Given the description of an element on the screen output the (x, y) to click on. 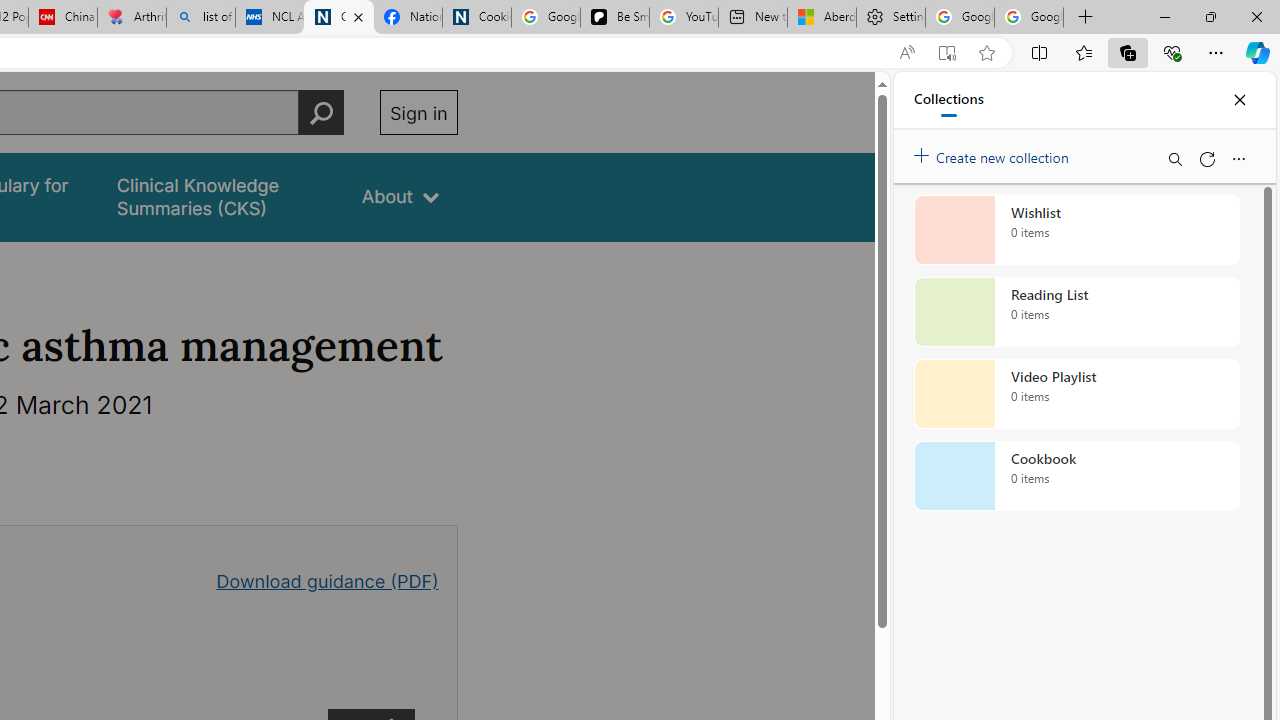
More options menu (1238, 158)
Be Smart | creating Science videos | Patreon (614, 17)
